Given the description of an element on the screen output the (x, y) to click on. 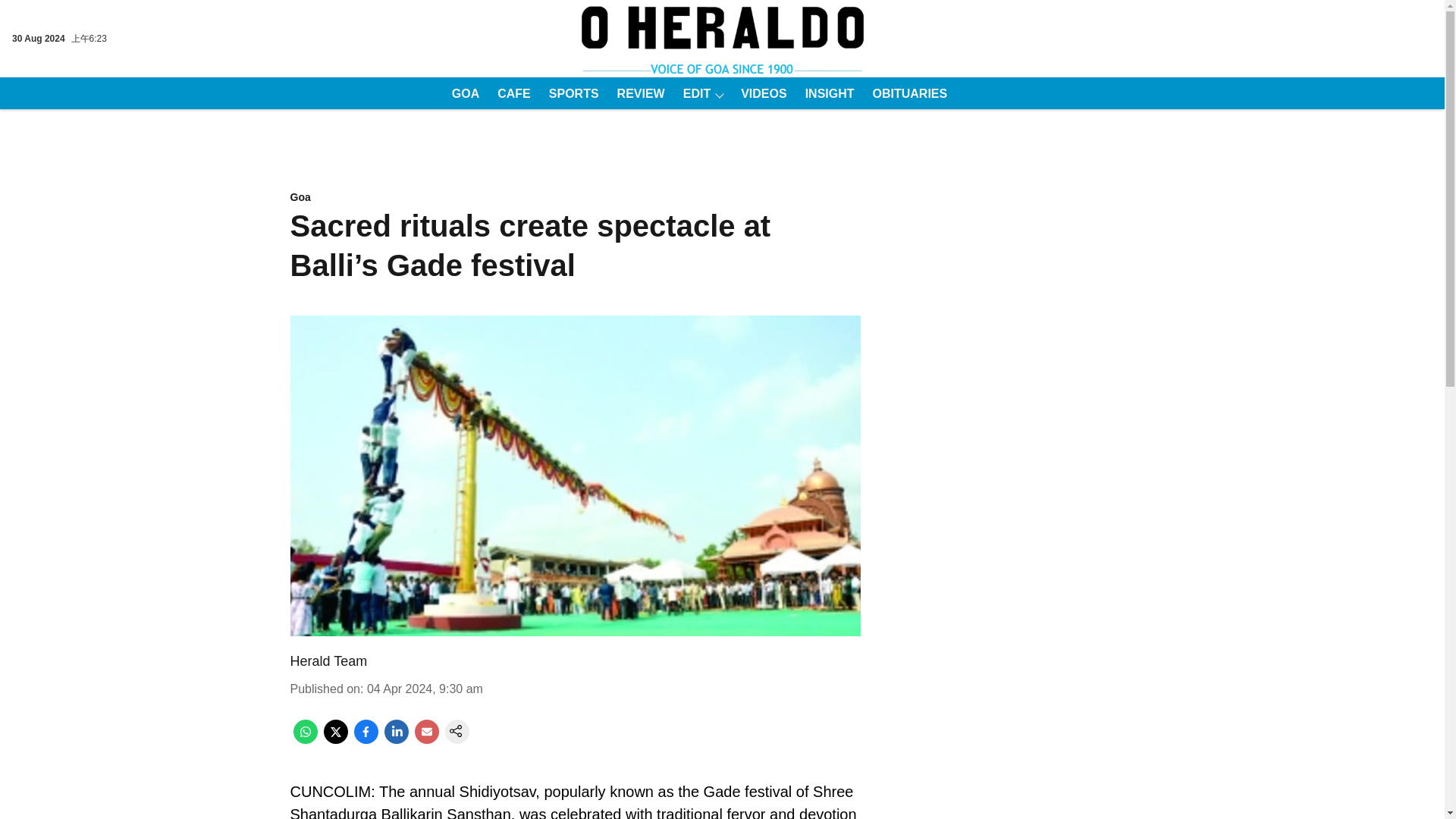
VIDEOS (759, 93)
SPORTS (569, 93)
Herald Team (327, 661)
REVIEW (636, 93)
GOA (460, 93)
CAFE (509, 93)
2024-04-04 01:30 (424, 688)
EDIT (692, 93)
Goa (574, 198)
INSIGHT (825, 93)
